Given the description of an element on the screen output the (x, y) to click on. 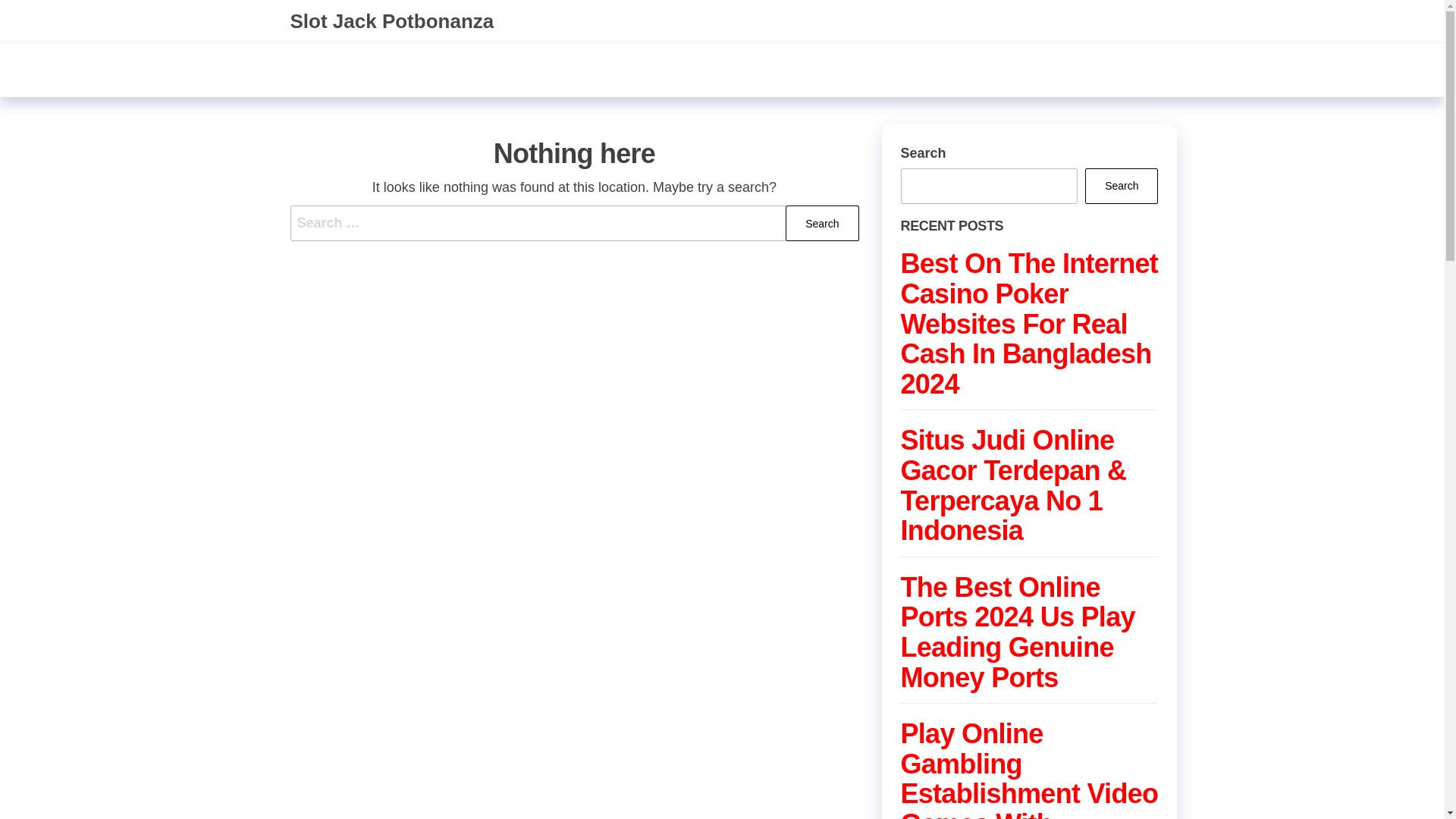
Slot Jack Potbonanza (391, 20)
Search (822, 222)
Search (822, 222)
Search (1120, 185)
Search (822, 222)
